Given the description of an element on the screen output the (x, y) to click on. 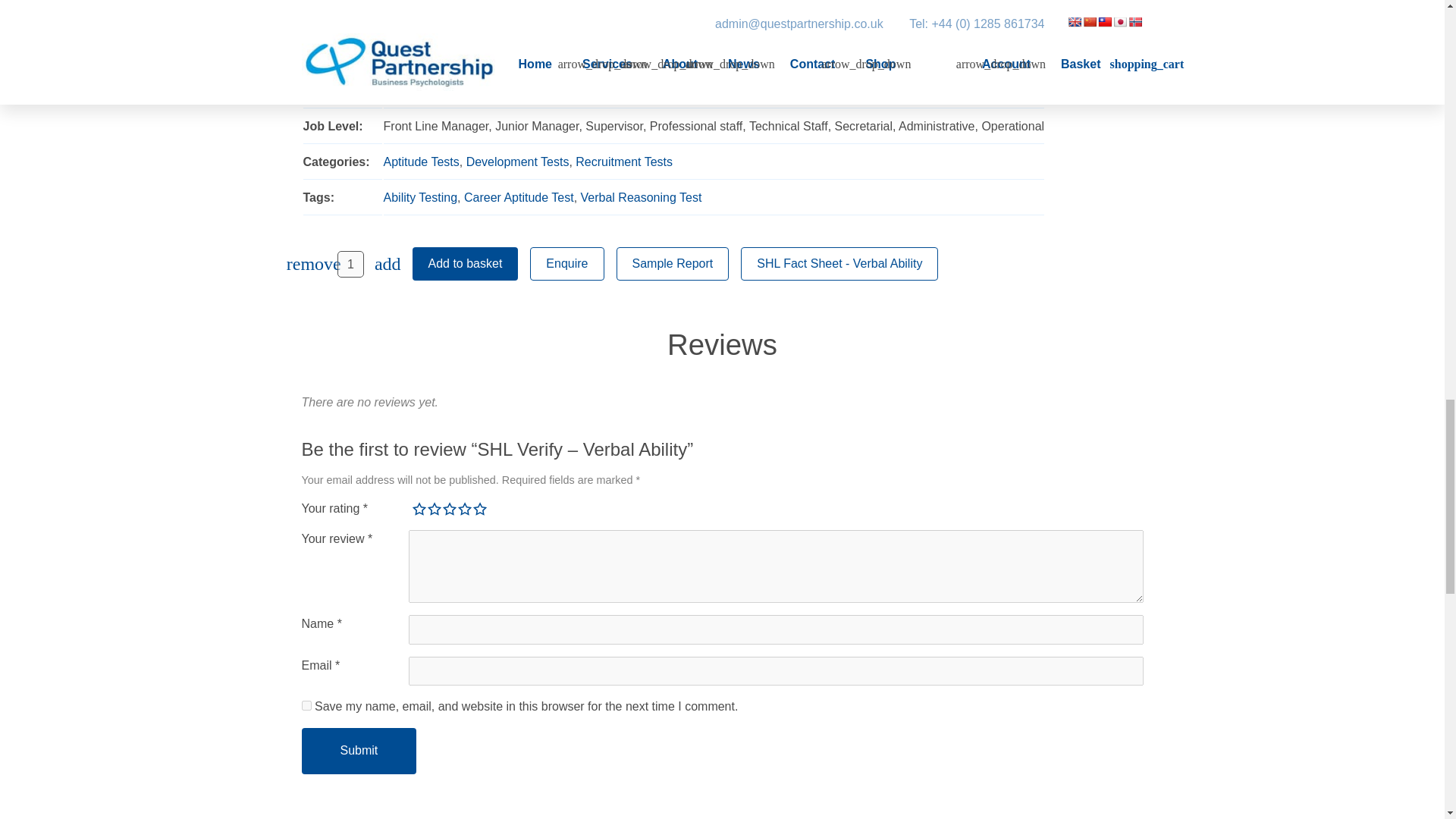
1 (350, 263)
Submit (358, 750)
Qty (350, 263)
yes (306, 705)
